Given the description of an element on the screen output the (x, y) to click on. 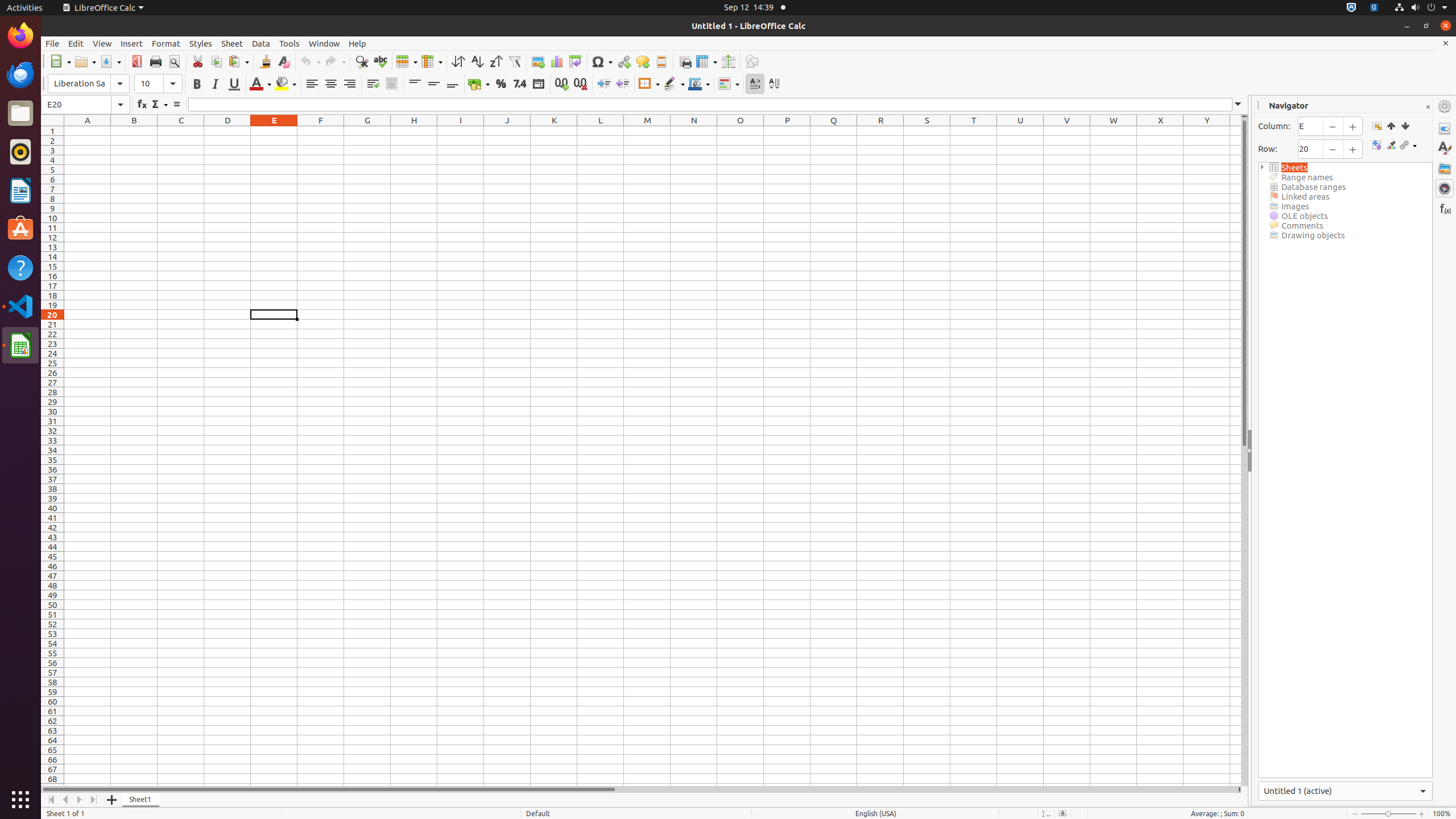
Delete Decimal Place Element type: push-button (580, 83)
Draw Functions Element type: toggle-button (751, 61)
Functions Element type: radio-button (1444, 208)
R1 Element type: table-cell (880, 130)
Active Window Element type: combo-box (1345, 790)
